Given the description of an element on the screen output the (x, y) to click on. 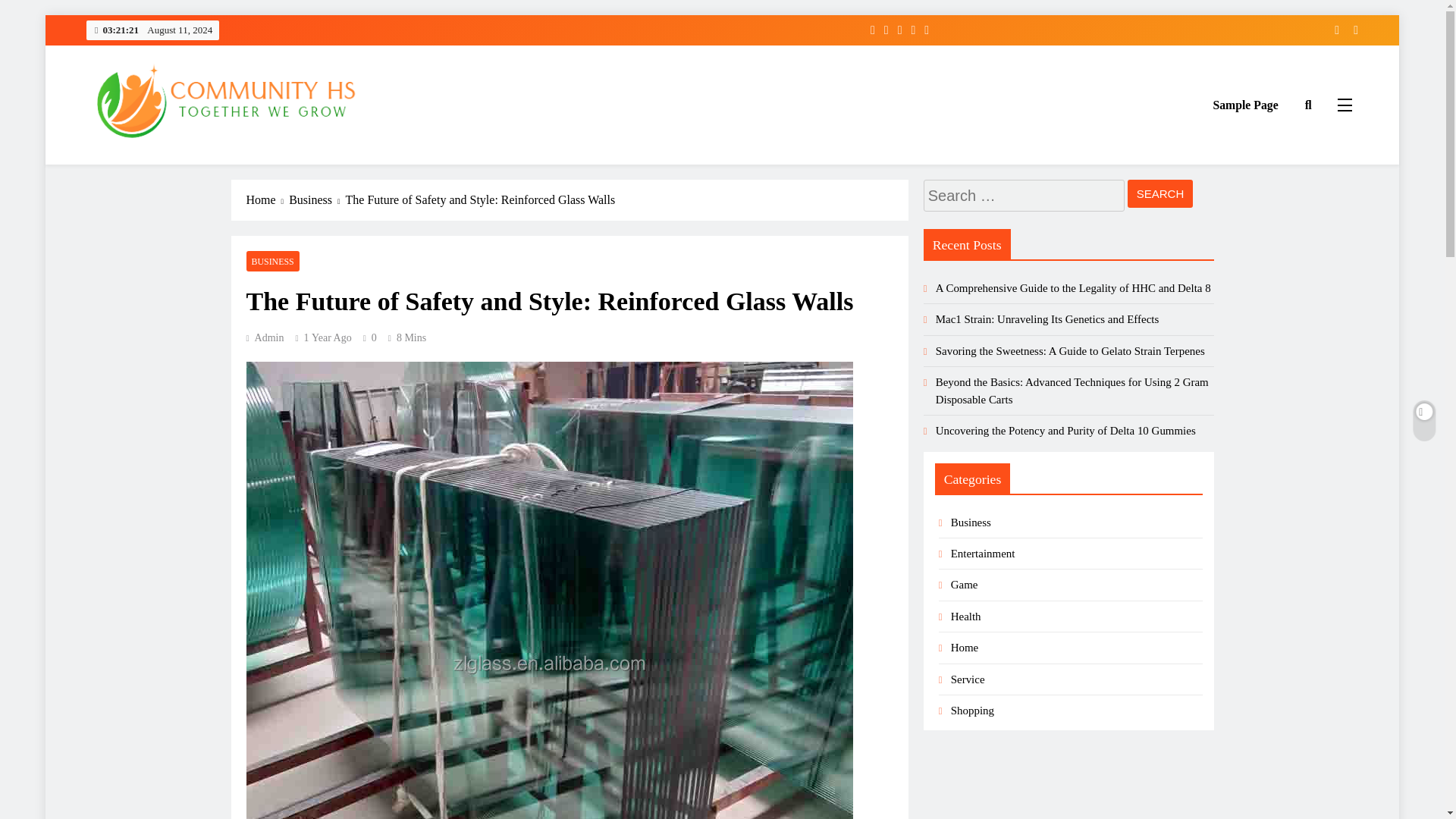
Uncovering the Potency and Purity of Delta 10 Gummies (1065, 430)
Business (970, 522)
Sample Page (1244, 105)
Search (1159, 193)
Game (964, 584)
1 Year Ago (328, 337)
Admin (264, 337)
Search (1159, 193)
A Comprehensive Guide to the Legality of HHC and Delta 8 (1073, 287)
Community HS (164, 165)
